Given the description of an element on the screen output the (x, y) to click on. 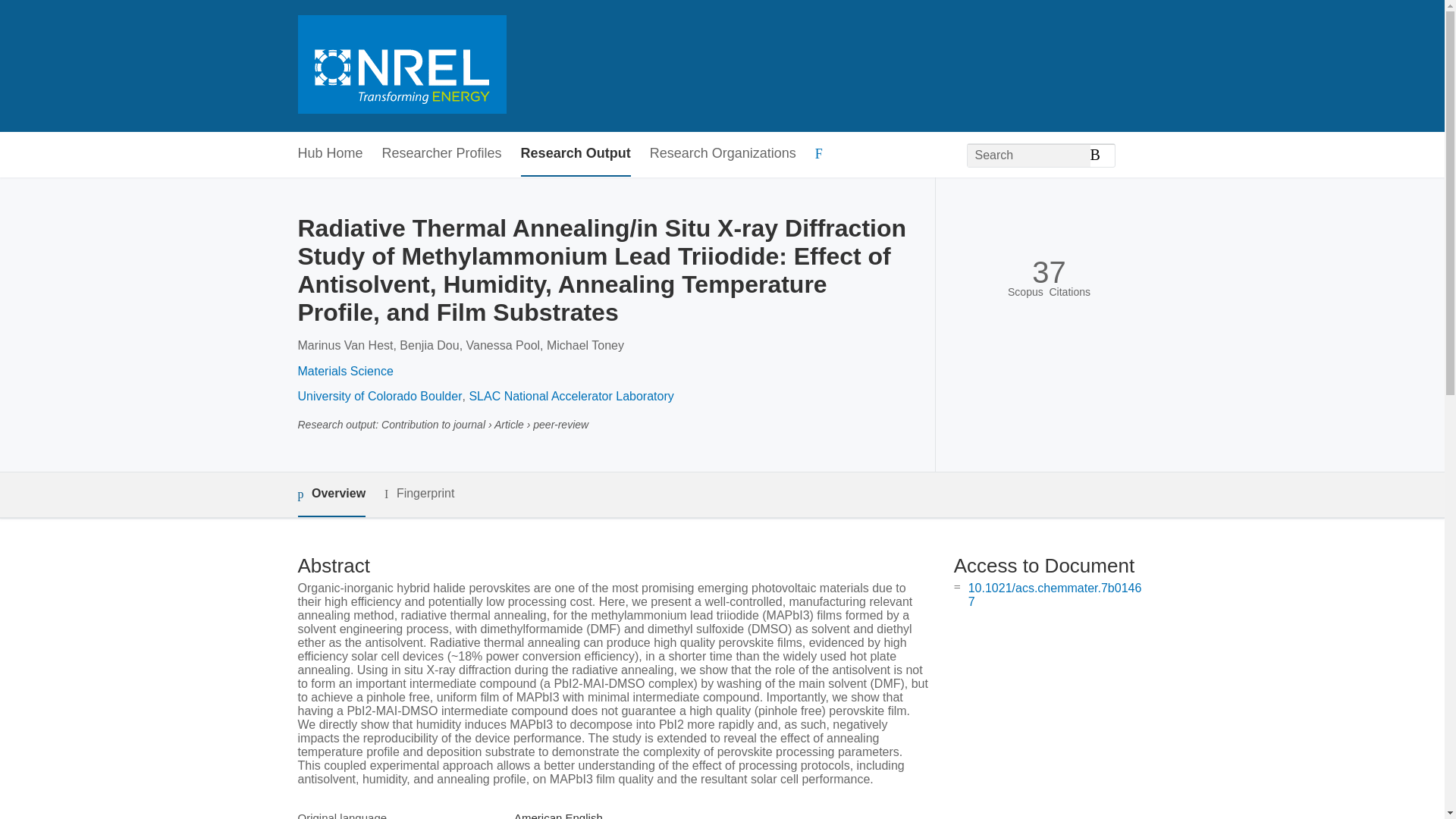
Research Organizations (722, 153)
University of Colorado Boulder (379, 395)
Overview (331, 494)
Fingerprint (419, 493)
Researcher Profiles (441, 153)
Research Output (575, 153)
SLAC National Accelerator Laboratory (570, 395)
National Renewable Energy Laboratory Hub Home (401, 66)
Materials Science (345, 370)
